Given the description of an element on the screen output the (x, y) to click on. 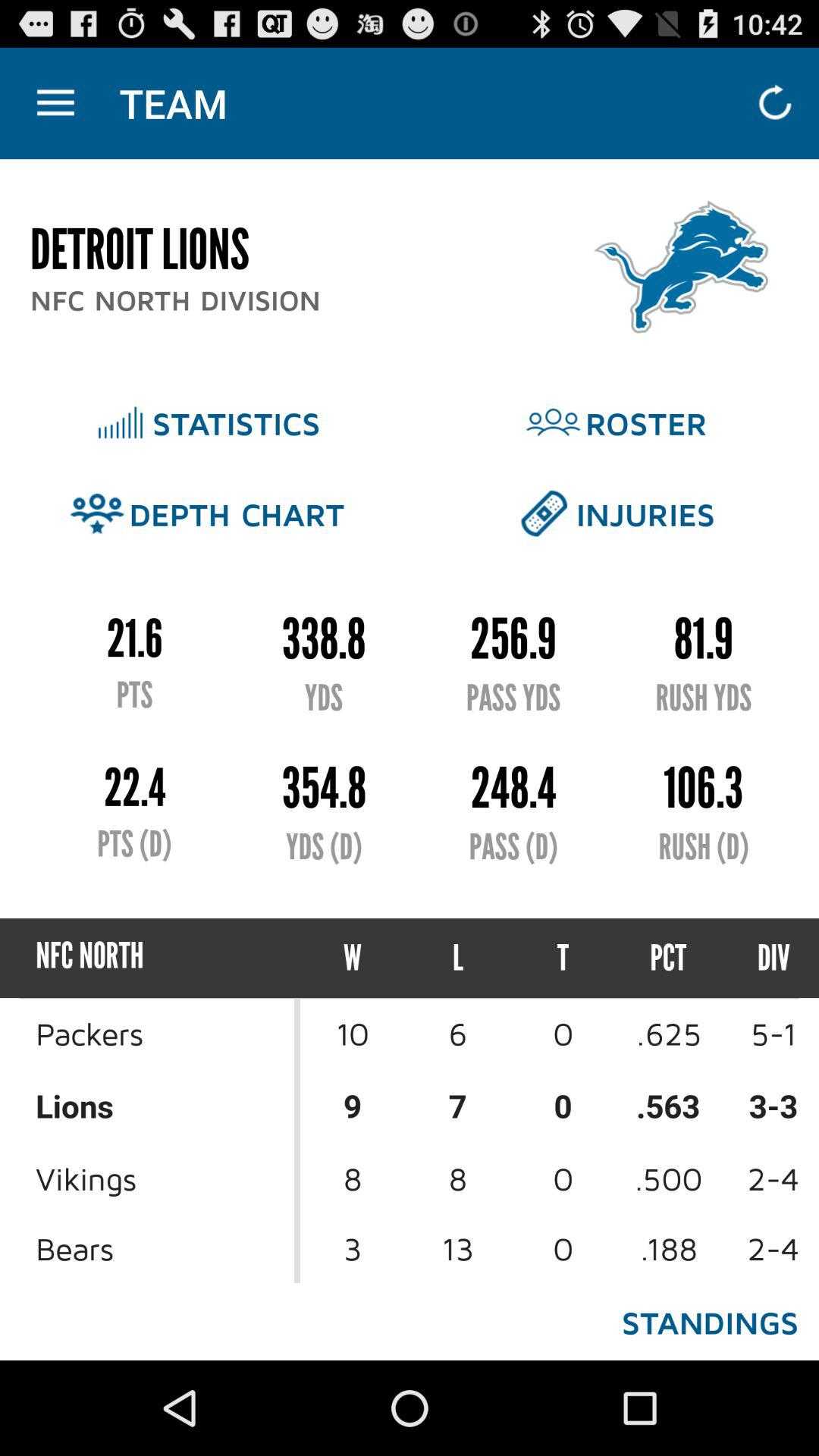
turn off icon above .625 (760, 958)
